Given the description of an element on the screen output the (x, y) to click on. 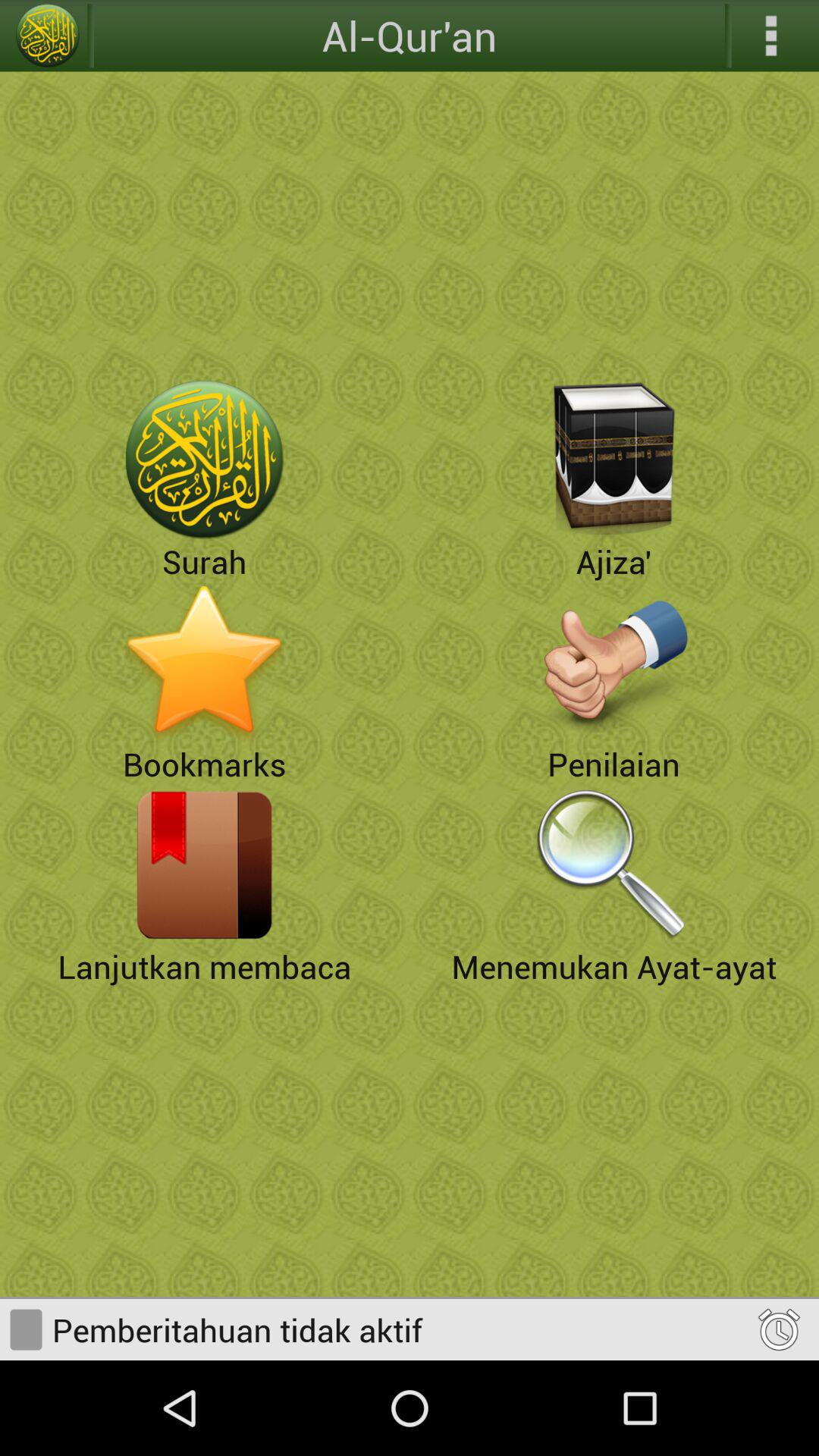
go to bookmarks (204, 662)
